Given the description of an element on the screen output the (x, y) to click on. 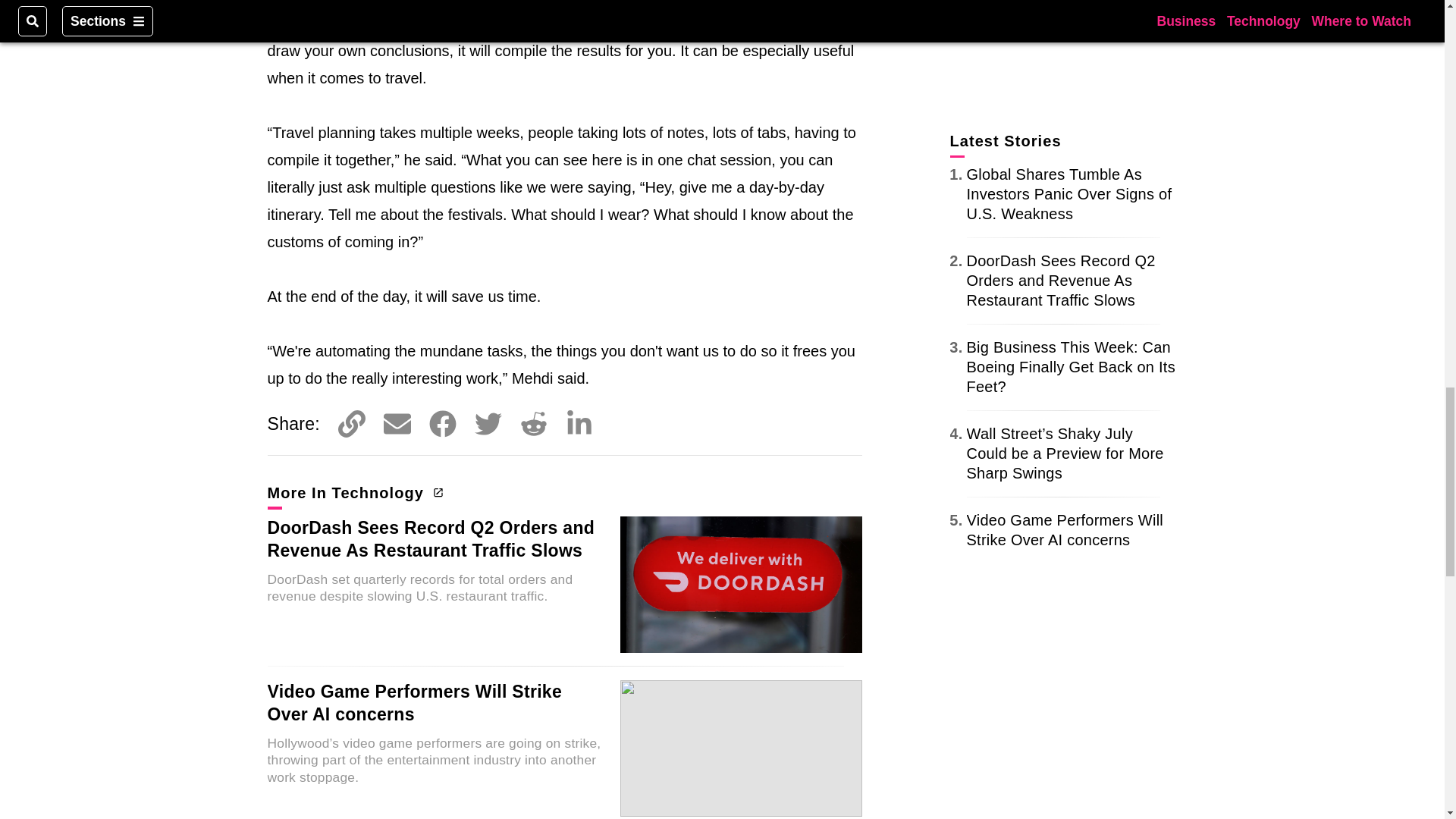
More In Technology (352, 492)
Video Game Performers Will Strike Over AI concerns (414, 702)
